Given the description of an element on the screen output the (x, y) to click on. 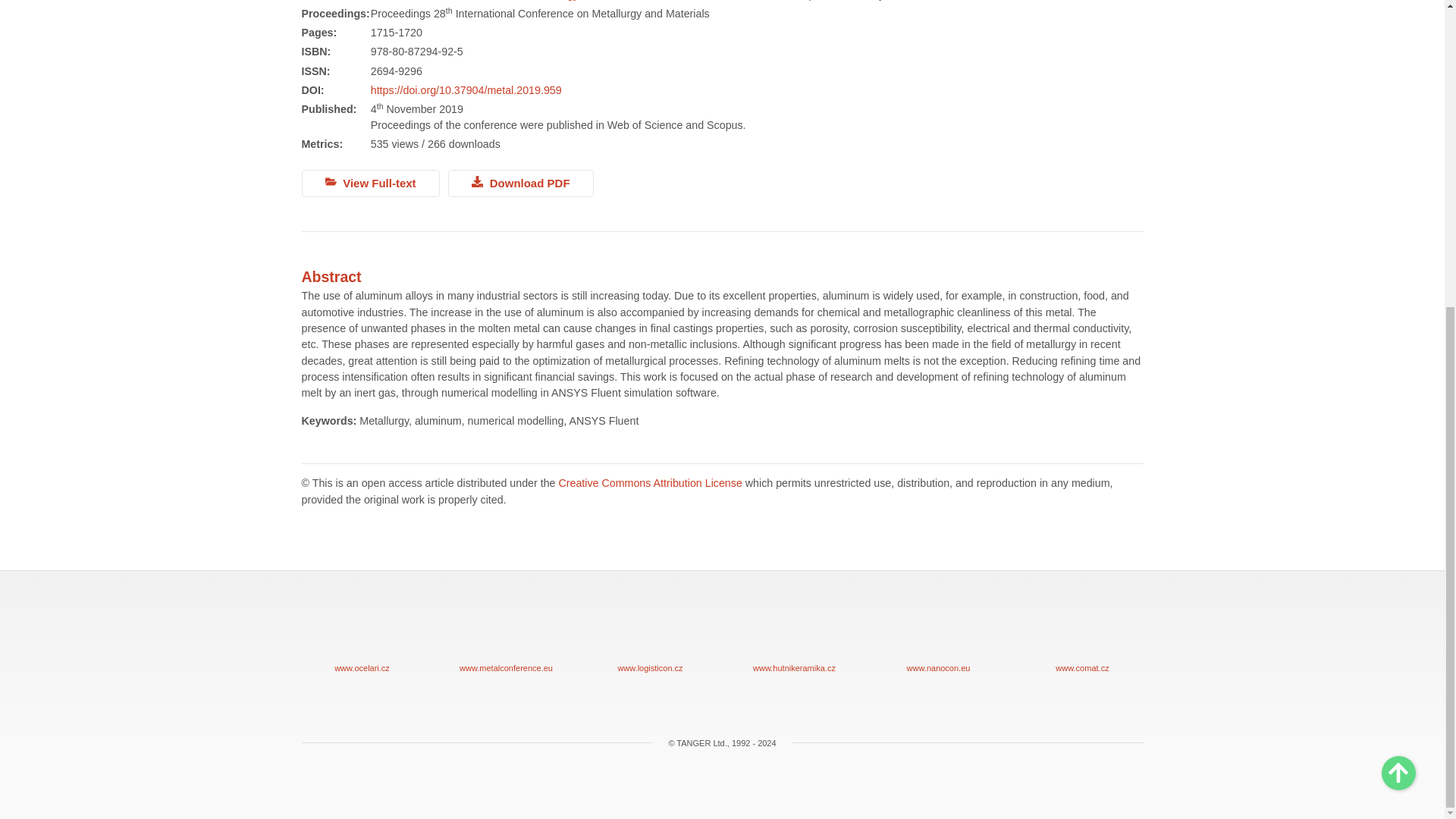
View Full-text (370, 183)
www.metalconference.eu (506, 633)
Creative Commons Attribution License (649, 482)
Scroll to Top (1398, 288)
www.nanocon.eu (937, 633)
www.hutnikeramika.cz (794, 633)
www.comat.cz (1082, 633)
www.logisticon.cz (650, 633)
Scroll to Top (1398, 288)
Download PDF (521, 183)
www.ocelari.cz (362, 633)
